Given the description of an element on the screen output the (x, y) to click on. 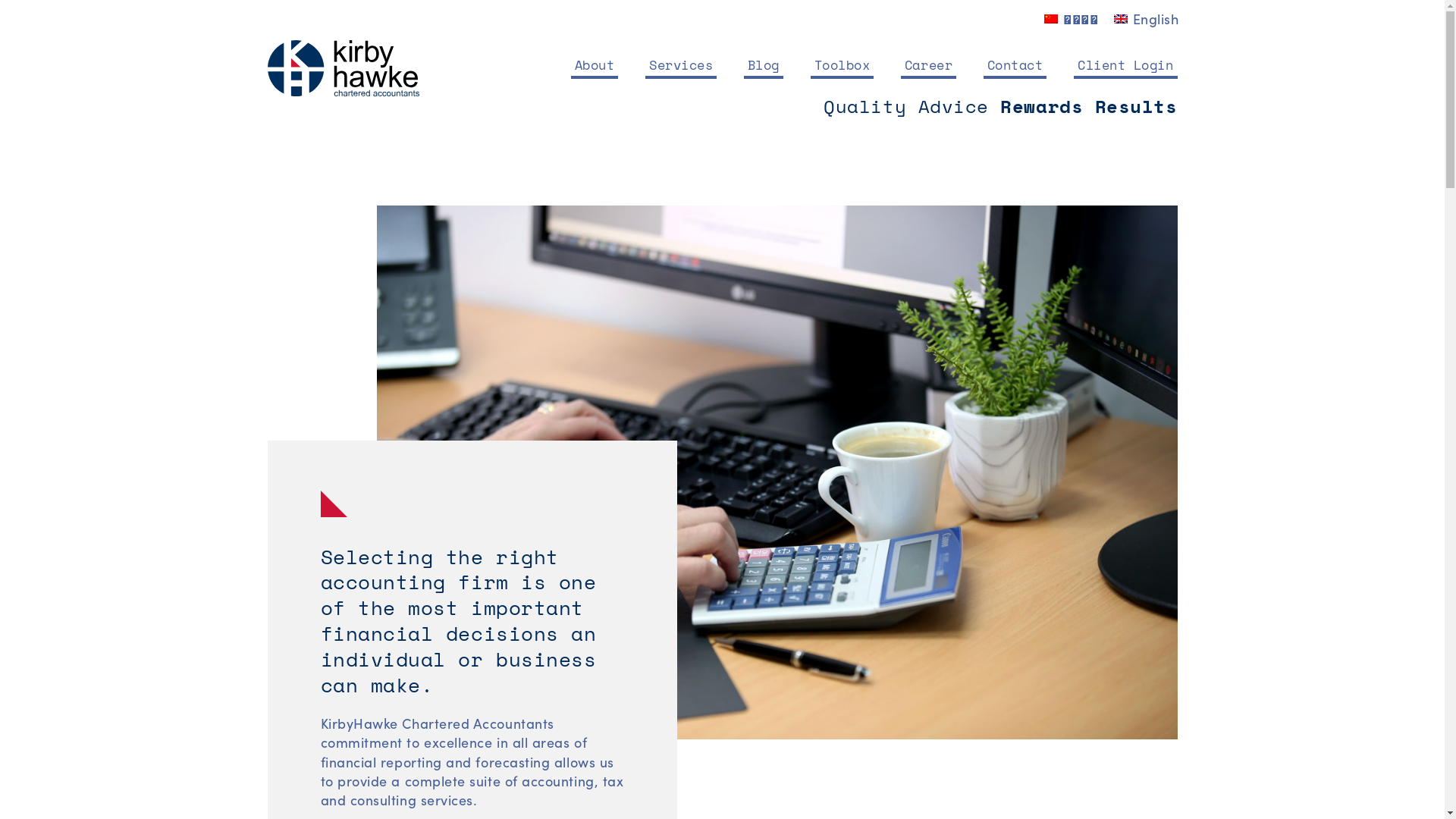
About
Expand Element type: text (594, 64)
Services
Expand Element type: text (680, 64)
About
Expand Element type: text (594, 64)
feature1 Element type: hover (768, 472)
Blog Element type: text (763, 64)
Client Login Element type: text (1124, 64)
Kirby Hawke Element type: hover (342, 67)
Services
Expand Element type: text (680, 64)
Career
Expand Element type: text (928, 64)
Contact Element type: text (1015, 64)
English Element type: hover (1120, 18)
Career
Expand Element type: text (928, 64)
Toolbox
Expand Element type: text (842, 64)
Toolbox
Expand Element type: text (842, 64)
English Element type: text (1146, 17)
